Given the description of an element on the screen output the (x, y) to click on. 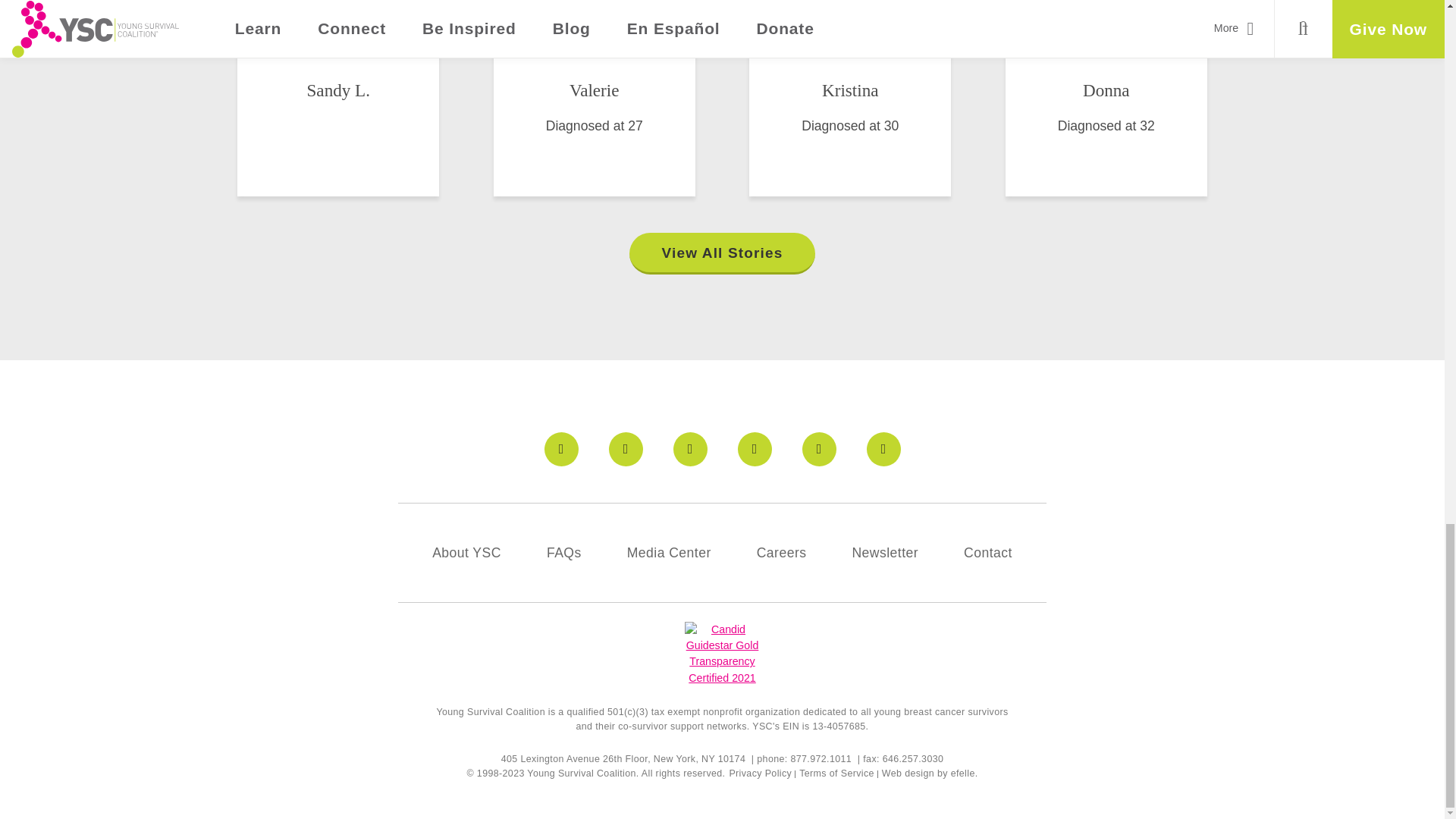
Candid Guidestar Gold Transparency Certified 2021 (721, 653)
Web Design By Efelle (908, 773)
View All Stories (721, 253)
